Given the description of an element on the screen output the (x, y) to click on. 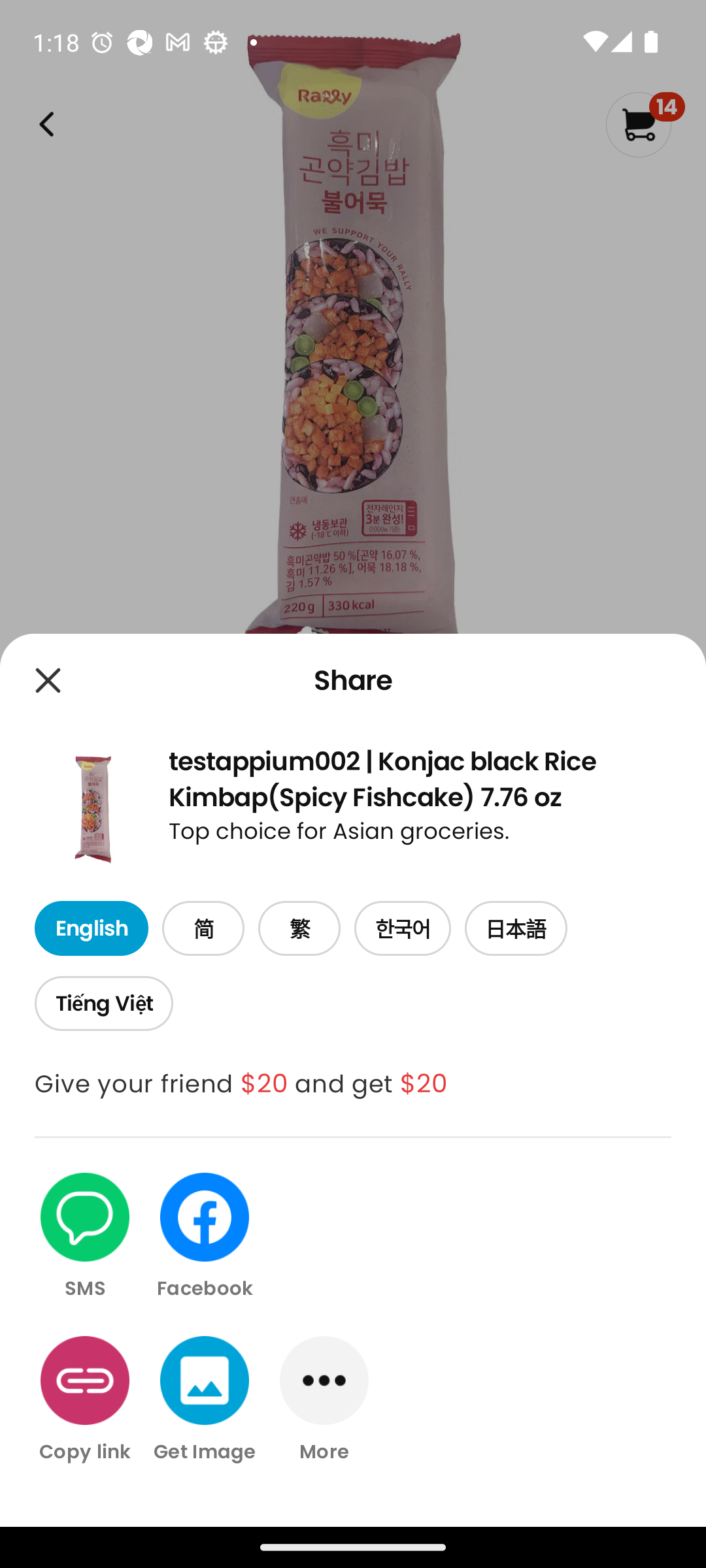
English (91, 928)
简 (203, 928)
繁 (299, 928)
한국어 (402, 928)
日本語 (515, 928)
Tiếng Việt (103, 1003)
SMS (85, 1236)
Facebook (204, 1236)
Copy link (85, 1399)
Get Image (204, 1399)
More (324, 1399)
